Given the description of an element on the screen output the (x, y) to click on. 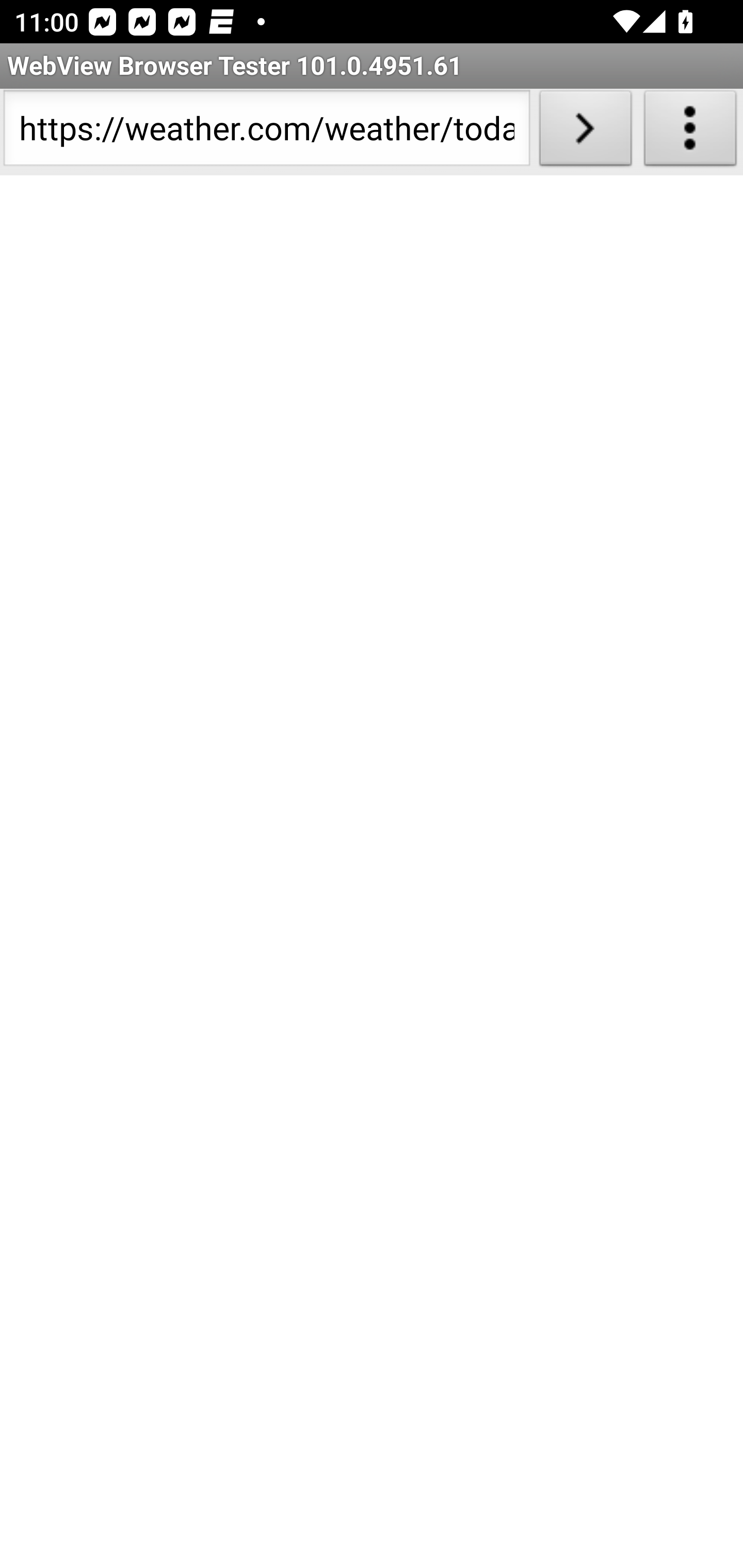
Load URL (585, 132)
About WebView (690, 132)
